Given the description of an element on the screen output the (x, y) to click on. 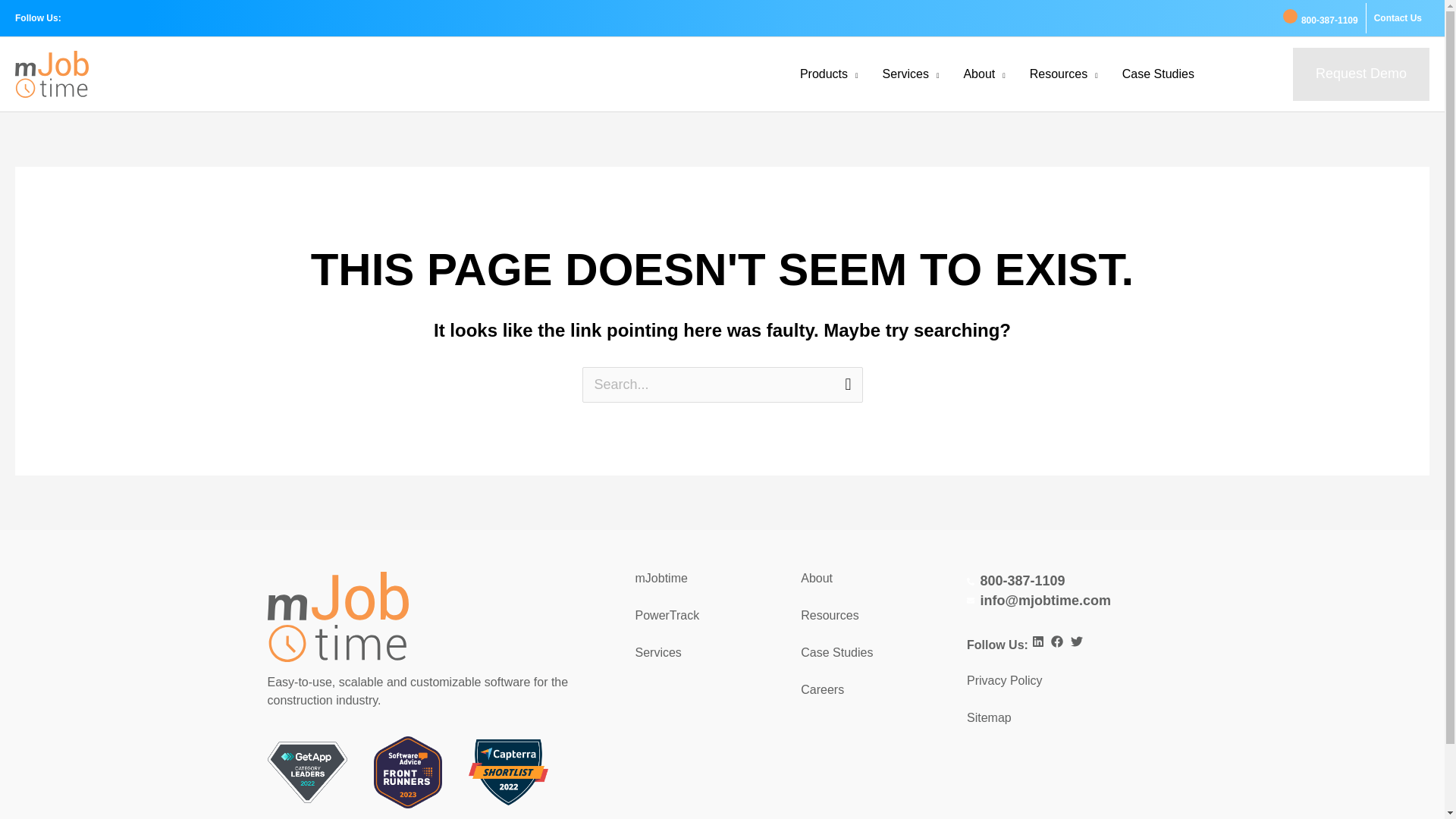
Contact Us (1398, 18)
800-387-1109 (1320, 18)
Shortlist Badge (508, 772)
Frontrunners Badge (408, 772)
Products (828, 73)
Category Leaders Badge (306, 772)
